Given the description of an element on the screen output the (x, y) to click on. 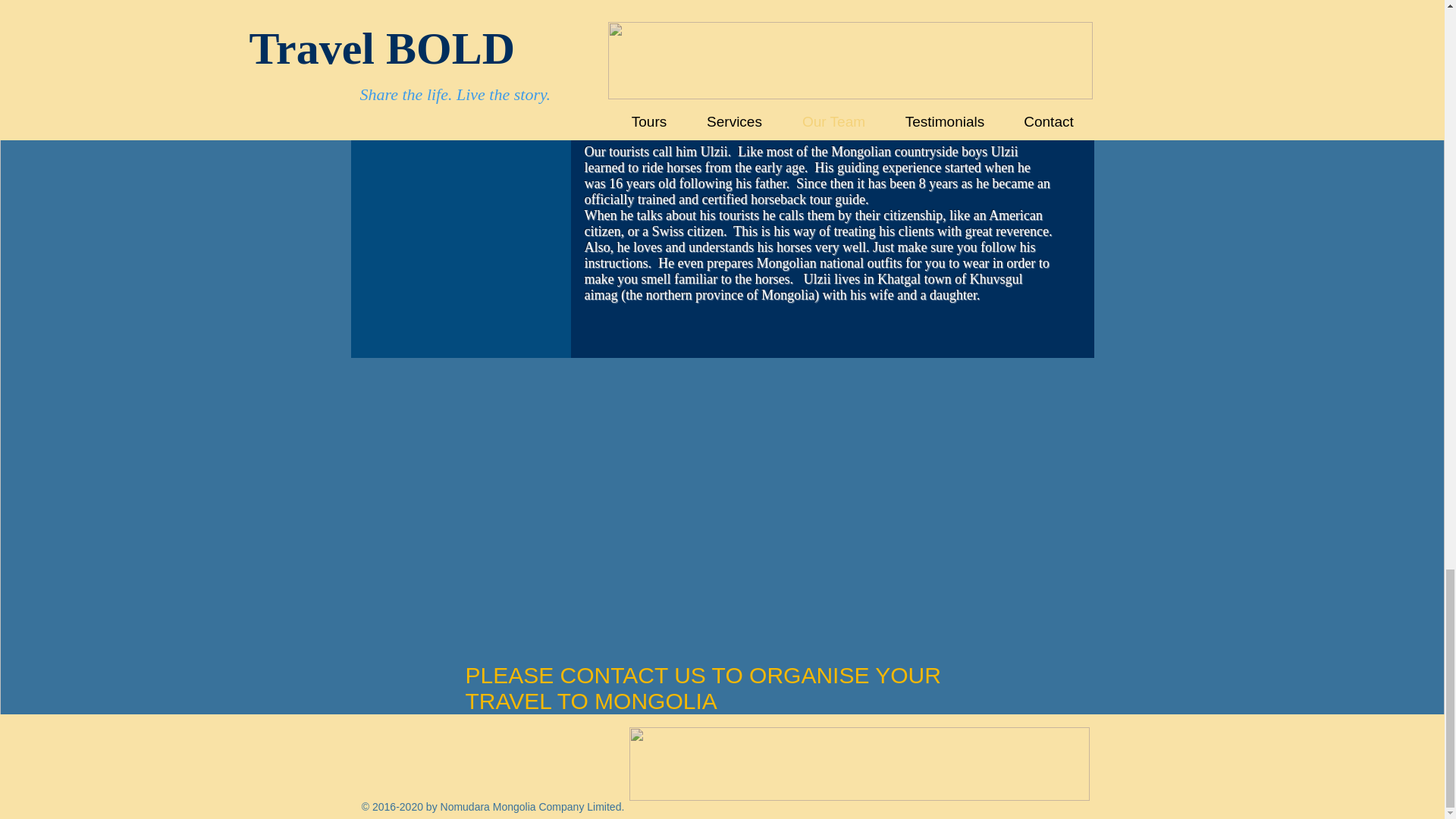
PLEASE CONTACT US TO ORGANISE YOUR TRAVEL TO MONGOLIA  (702, 687)
